Given the description of an element on the screen output the (x, y) to click on. 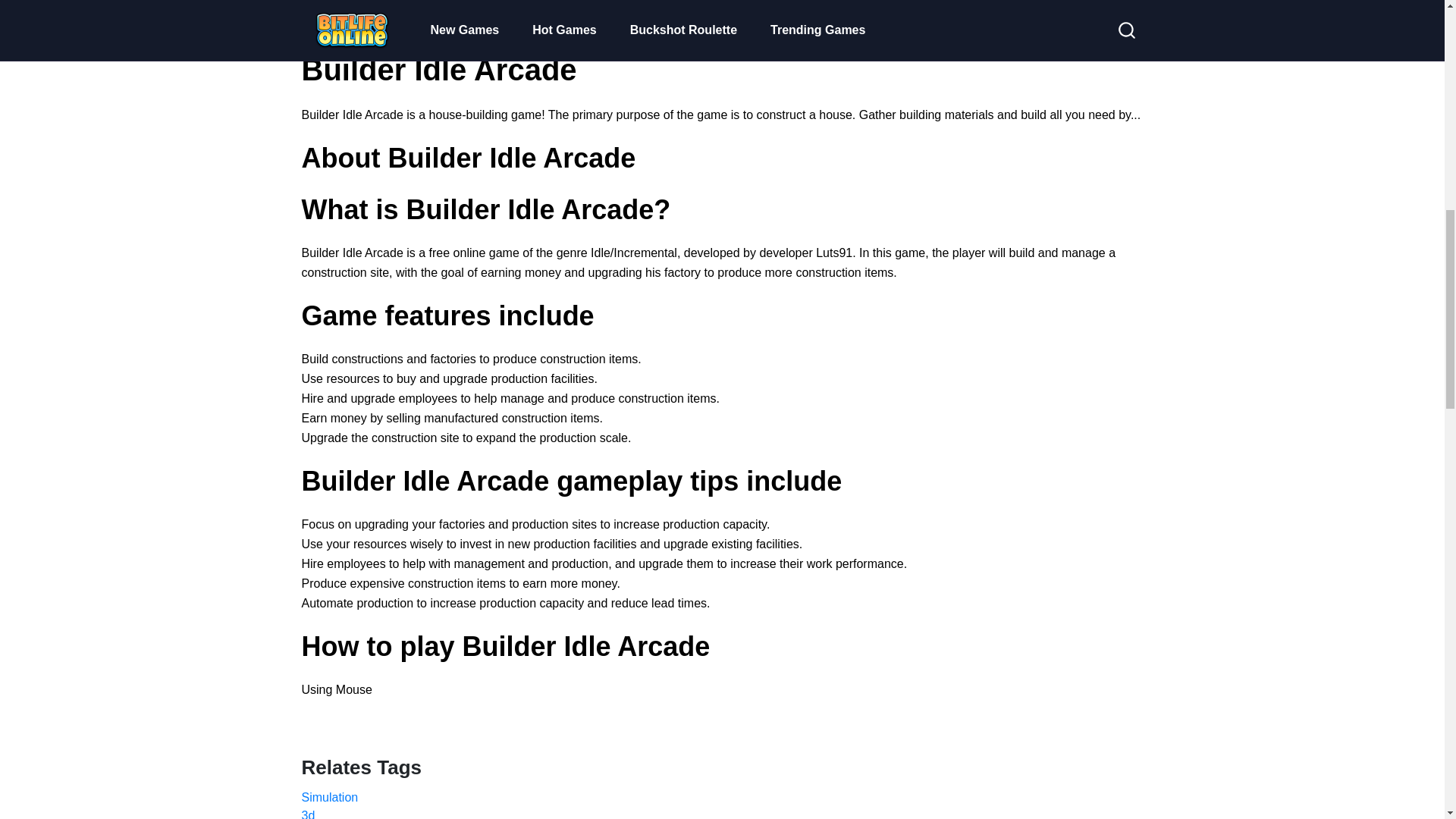
Simulation (721, 797)
3d (721, 812)
3d (721, 812)
simulation (721, 797)
